Given the description of an element on the screen output the (x, y) to click on. 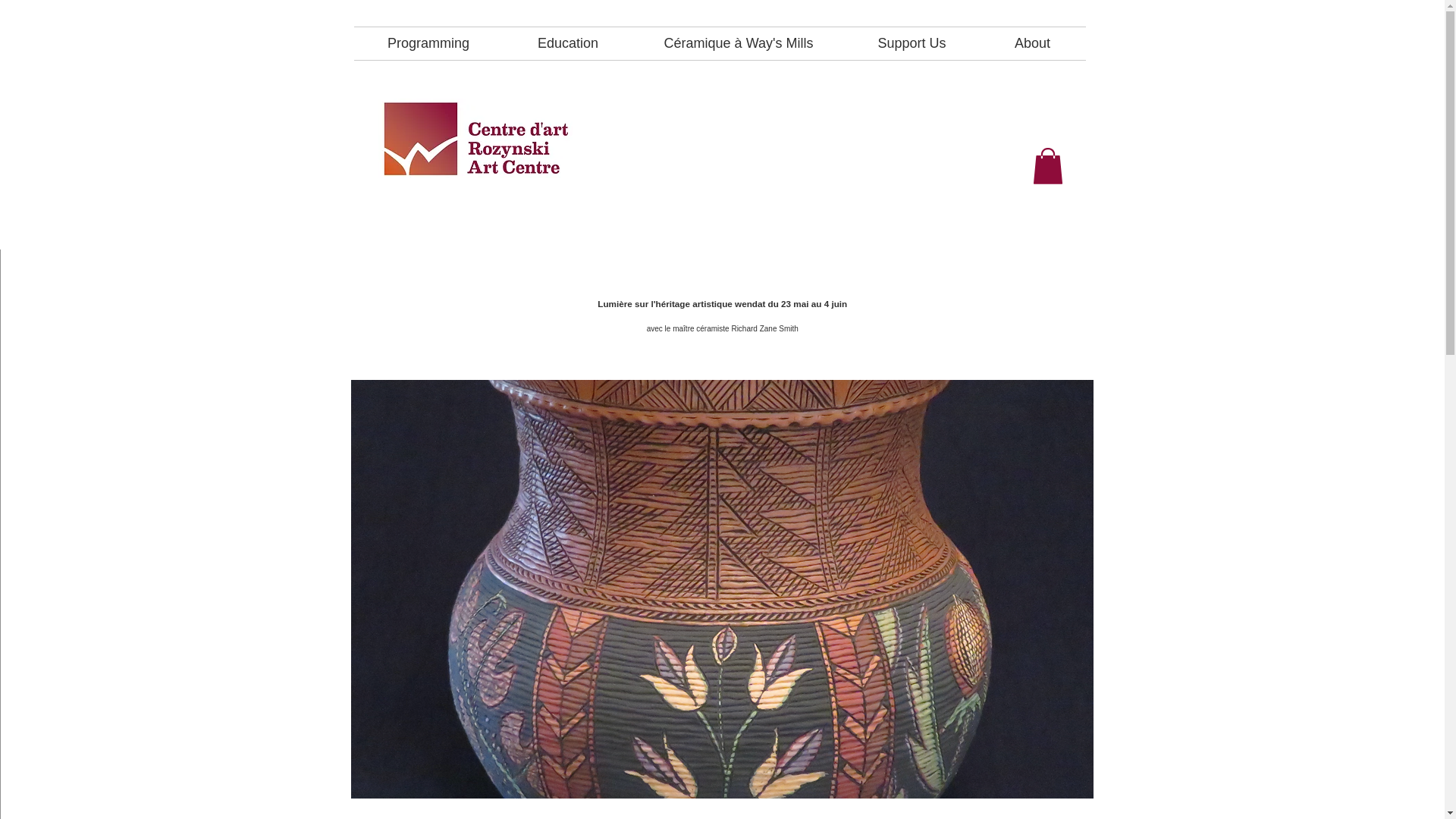
Programming (427, 43)
Support Us (911, 43)
Education (568, 43)
About (1032, 43)
